Given the description of an element on the screen output the (x, y) to click on. 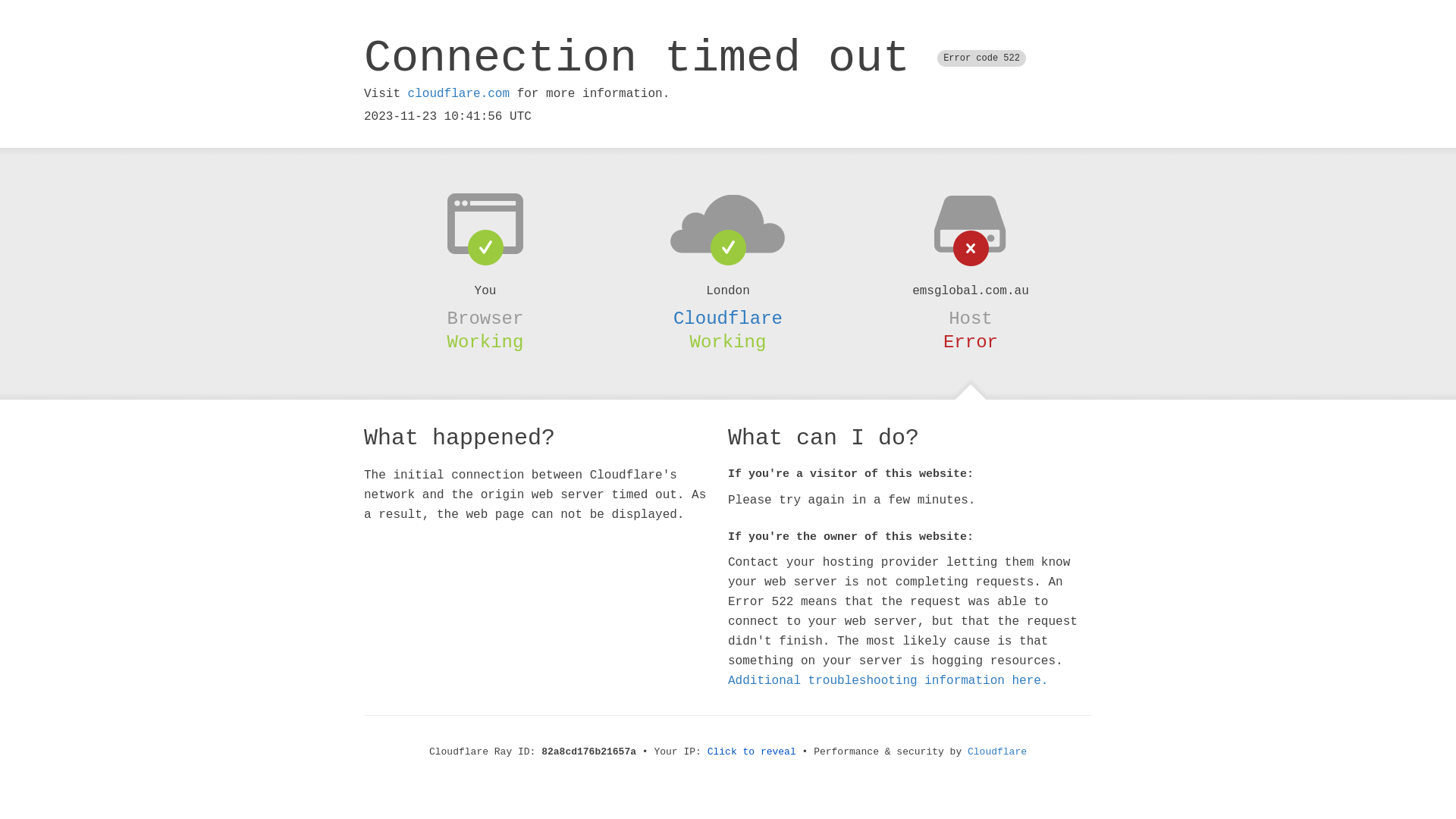
Cloudflare Element type: text (996, 751)
Additional troubleshooting information here. Element type: text (888, 680)
Click to reveal Element type: text (751, 751)
cloudflare.com Element type: text (458, 93)
Cloudflare Element type: text (727, 318)
